Given the description of an element on the screen output the (x, y) to click on. 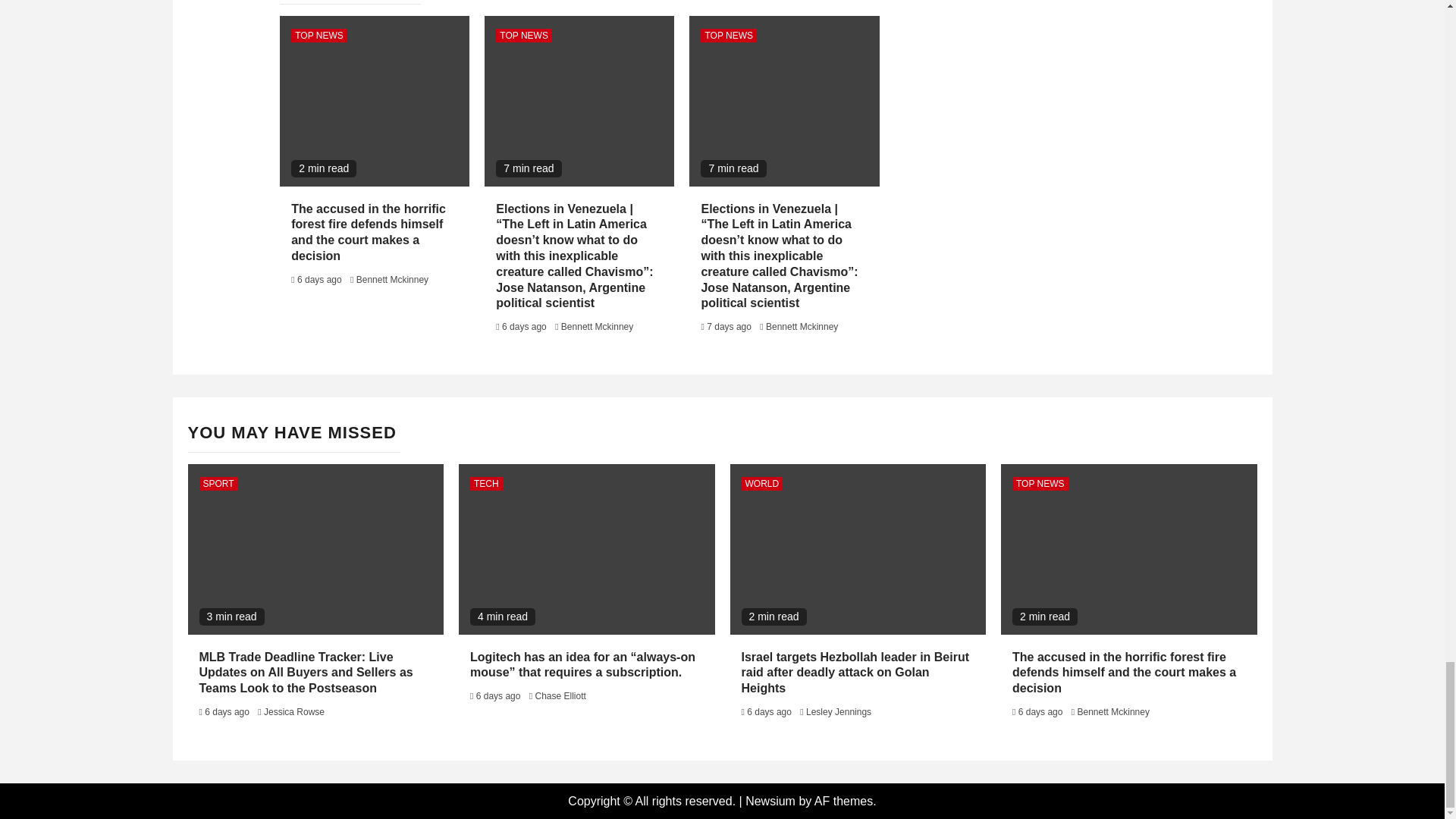
Bennett Mckinney (596, 326)
TOP NEWS (523, 35)
TOP NEWS (319, 35)
Bennett Mckinney (801, 326)
Bennett Mckinney (392, 279)
TOP NEWS (728, 35)
